Given the description of an element on the screen output the (x, y) to click on. 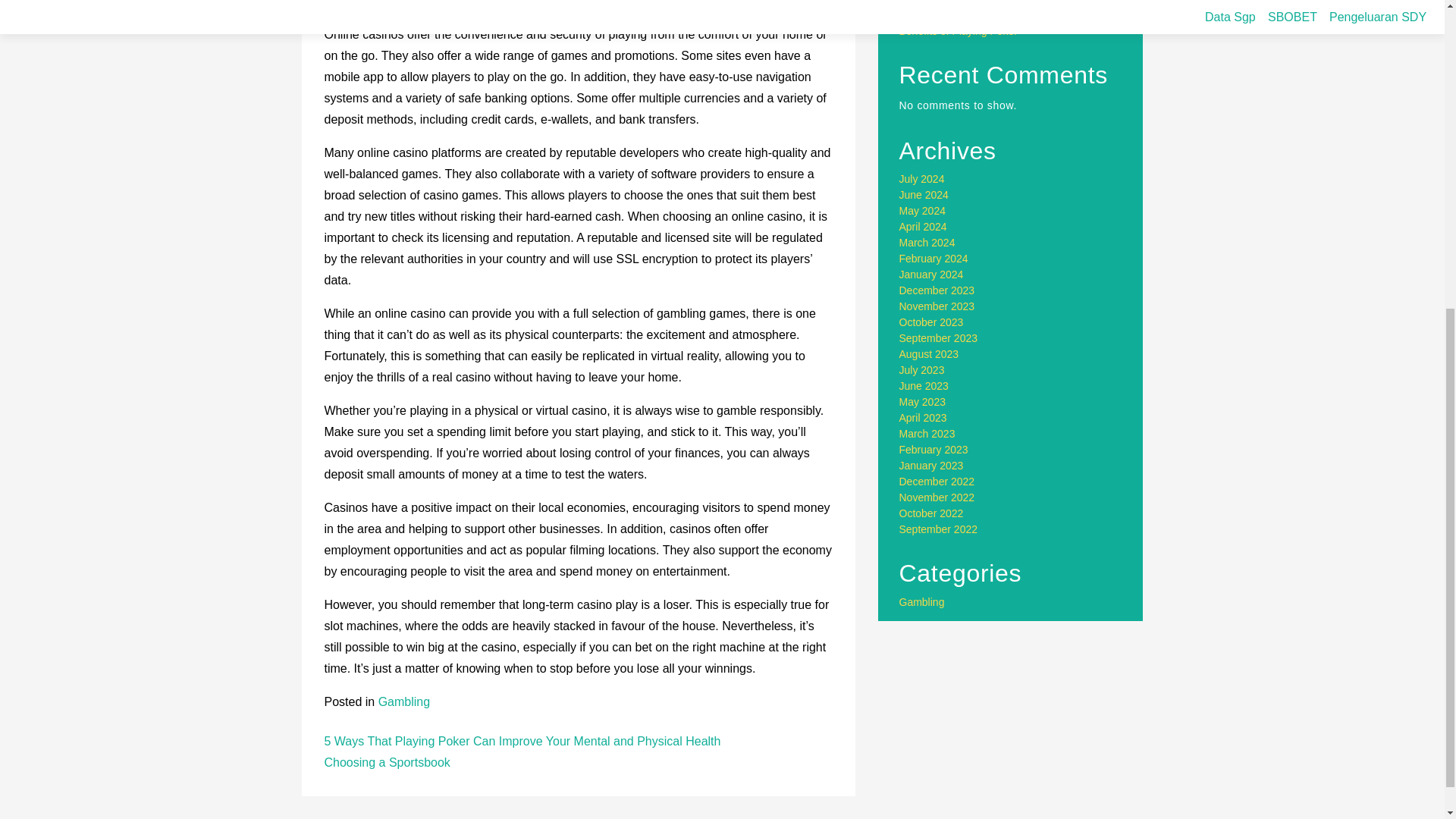
October 2022 (931, 512)
January 2023 (931, 465)
January 2024 (931, 274)
October 2023 (931, 322)
How to Find a Reputable Casino Online (992, 15)
May 2023 (921, 401)
July 2023 (921, 369)
August 2023 (929, 354)
November 2023 (937, 306)
March 2023 (927, 433)
December 2023 (937, 290)
June 2023 (924, 386)
February 2024 (933, 258)
Benefits of Playing Poker (958, 30)
